Given the description of an element on the screen output the (x, y) to click on. 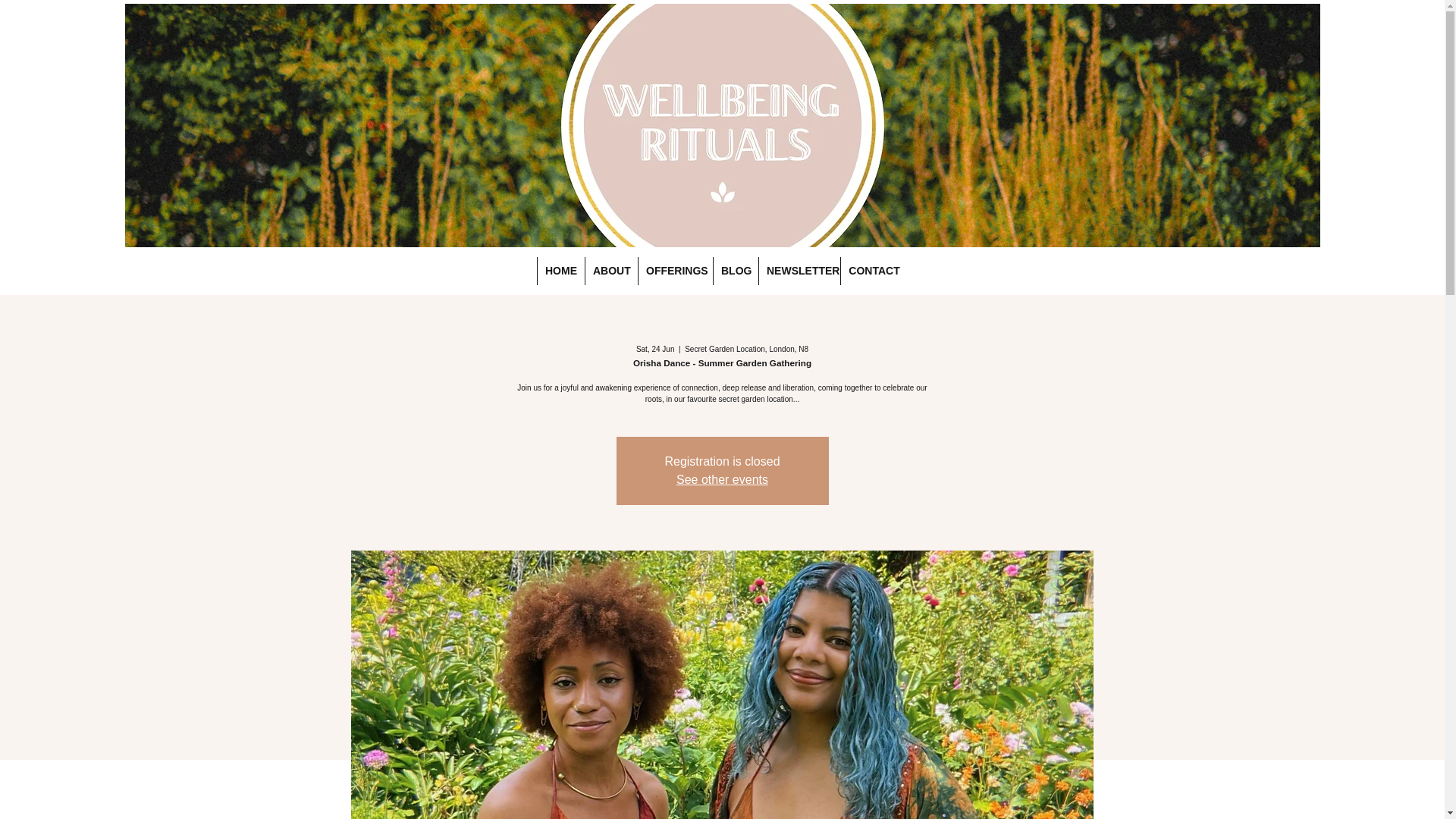
OFFERINGS (675, 271)
See other events (722, 479)
HOME (561, 271)
BLOG (735, 271)
NEWSLETTER (799, 271)
ABOUT (611, 271)
CONTACT (873, 271)
